Given the description of an element on the screen output the (x, y) to click on. 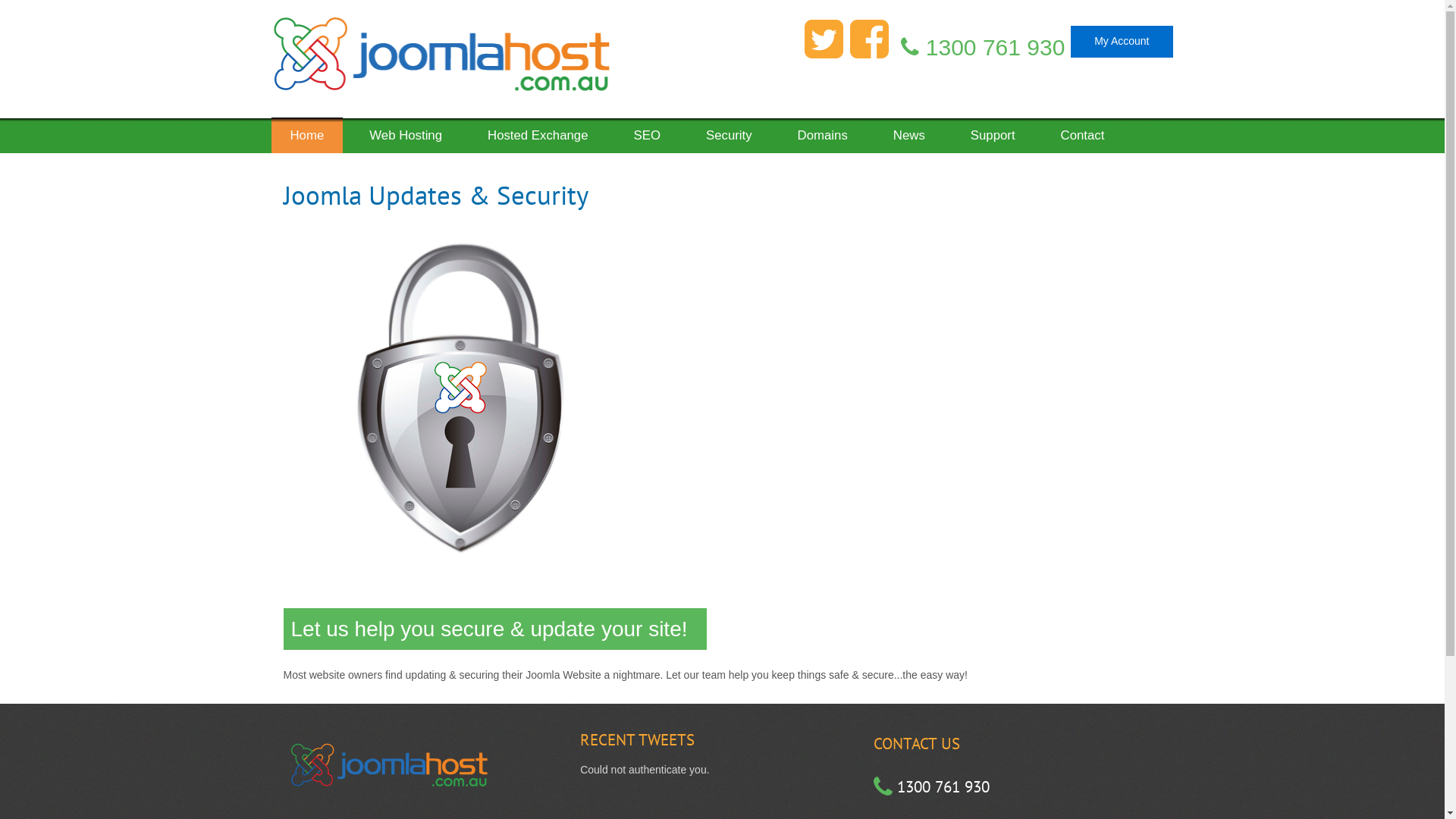
Support Element type: text (992, 130)
Security Element type: text (729, 130)
My Account Element type: text (1121, 41)
Hosted Exchange Element type: text (537, 130)
Home Element type: text (307, 135)
Domains Element type: text (822, 130)
Contact Element type: text (1082, 130)
SEO Element type: text (647, 130)
News Element type: text (909, 130)
Web Hosting Element type: text (405, 130)
